Given the description of an element on the screen output the (x, y) to click on. 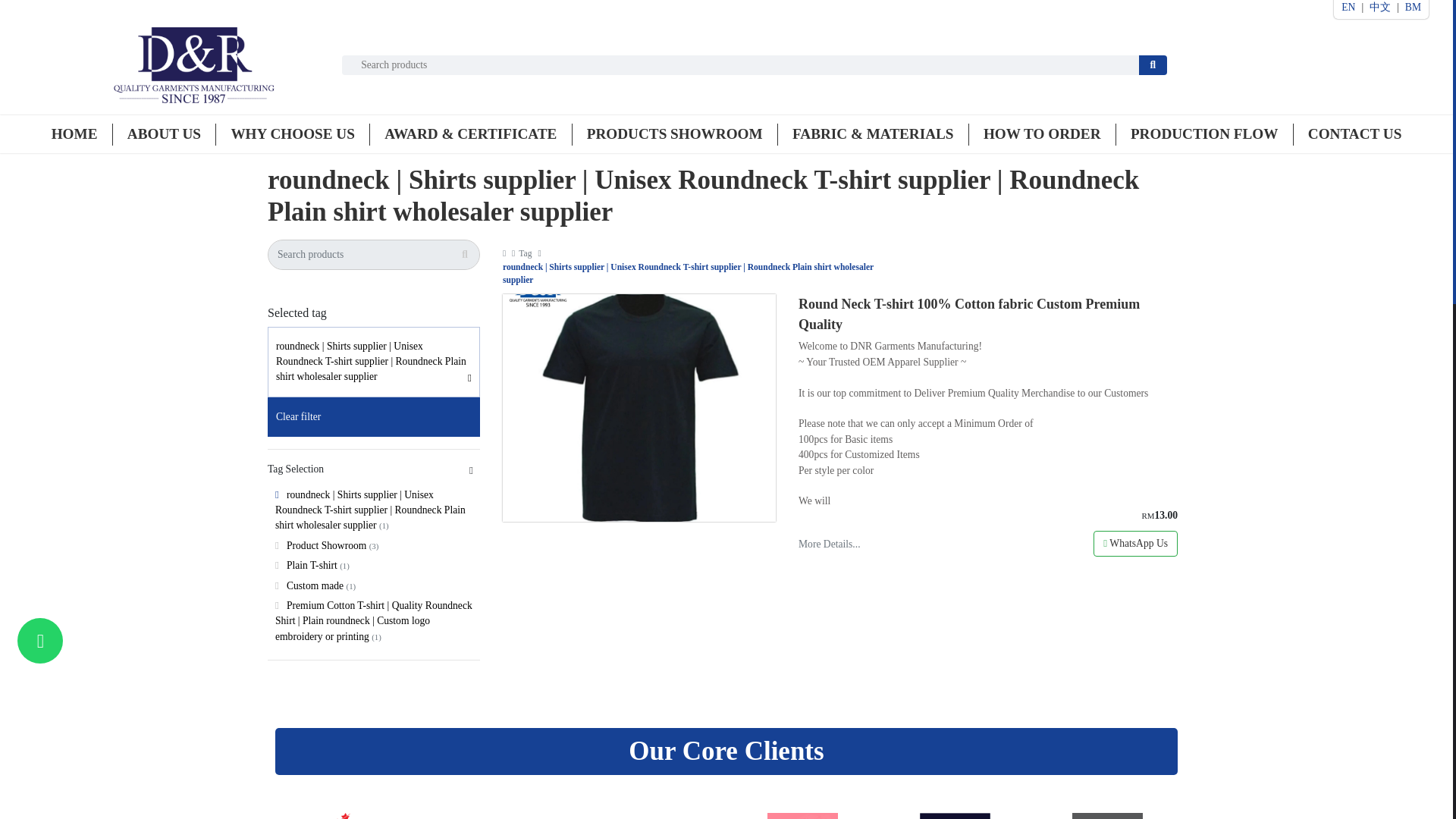
Contact Us (1354, 133)
WHY CHOOSE US (291, 133)
Production Flow (1204, 133)
Products Showroom (674, 133)
PRODUCTION FLOW (1204, 133)
HOW TO ORDER (1042, 133)
CONTACT US (1354, 133)
Why Choose Us (291, 133)
About Us (164, 133)
How To Order (1042, 133)
HOME (73, 133)
ABOUT US (164, 133)
Home (73, 133)
Clear filter (373, 416)
PRODUCTS SHOWROOM (674, 133)
